Given the description of an element on the screen output the (x, y) to click on. 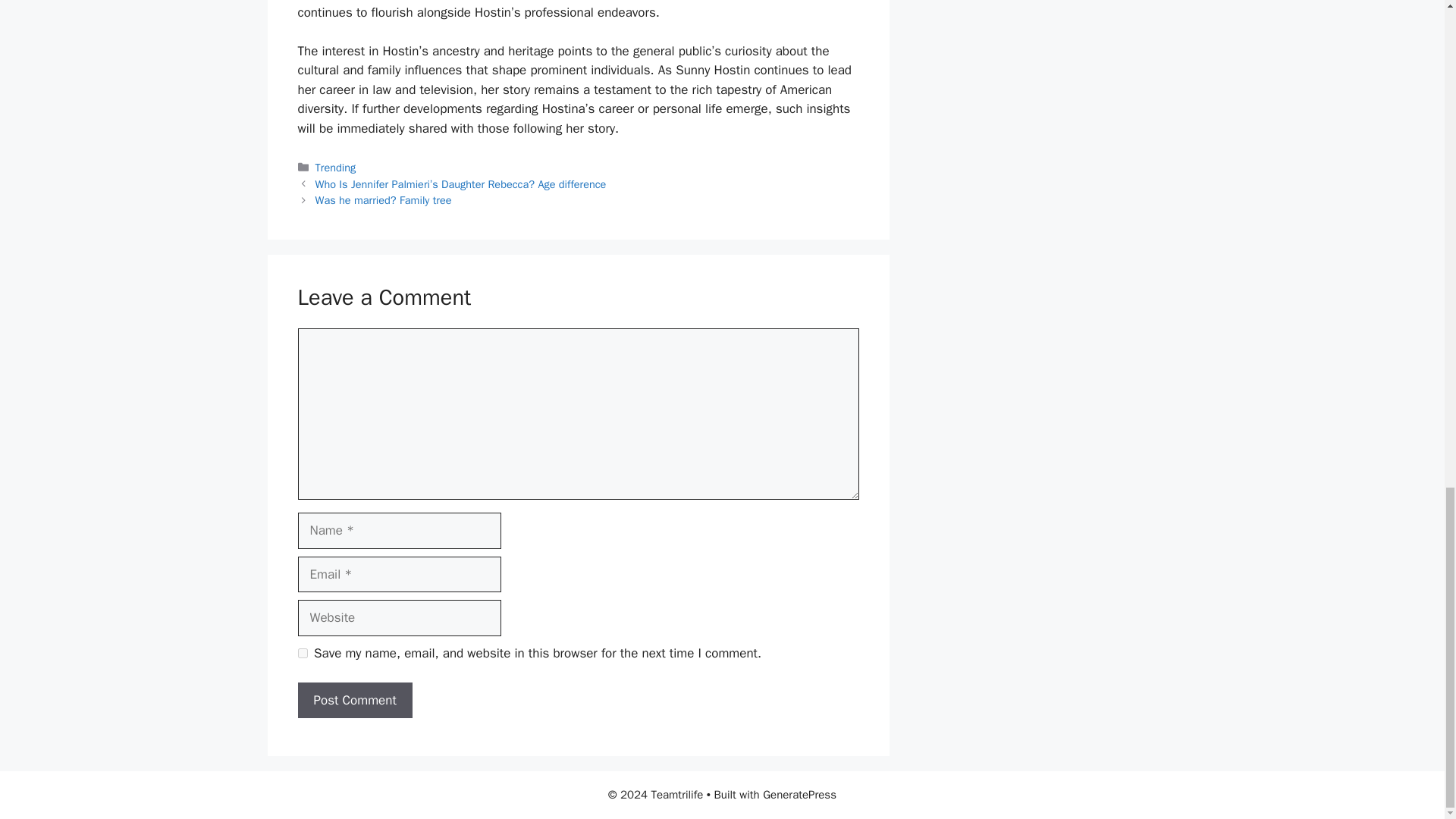
Post Comment (354, 700)
Trending (335, 167)
Was he married? Family tree (383, 200)
yes (302, 653)
Post Comment (354, 700)
